Given the description of an element on the screen output the (x, y) to click on. 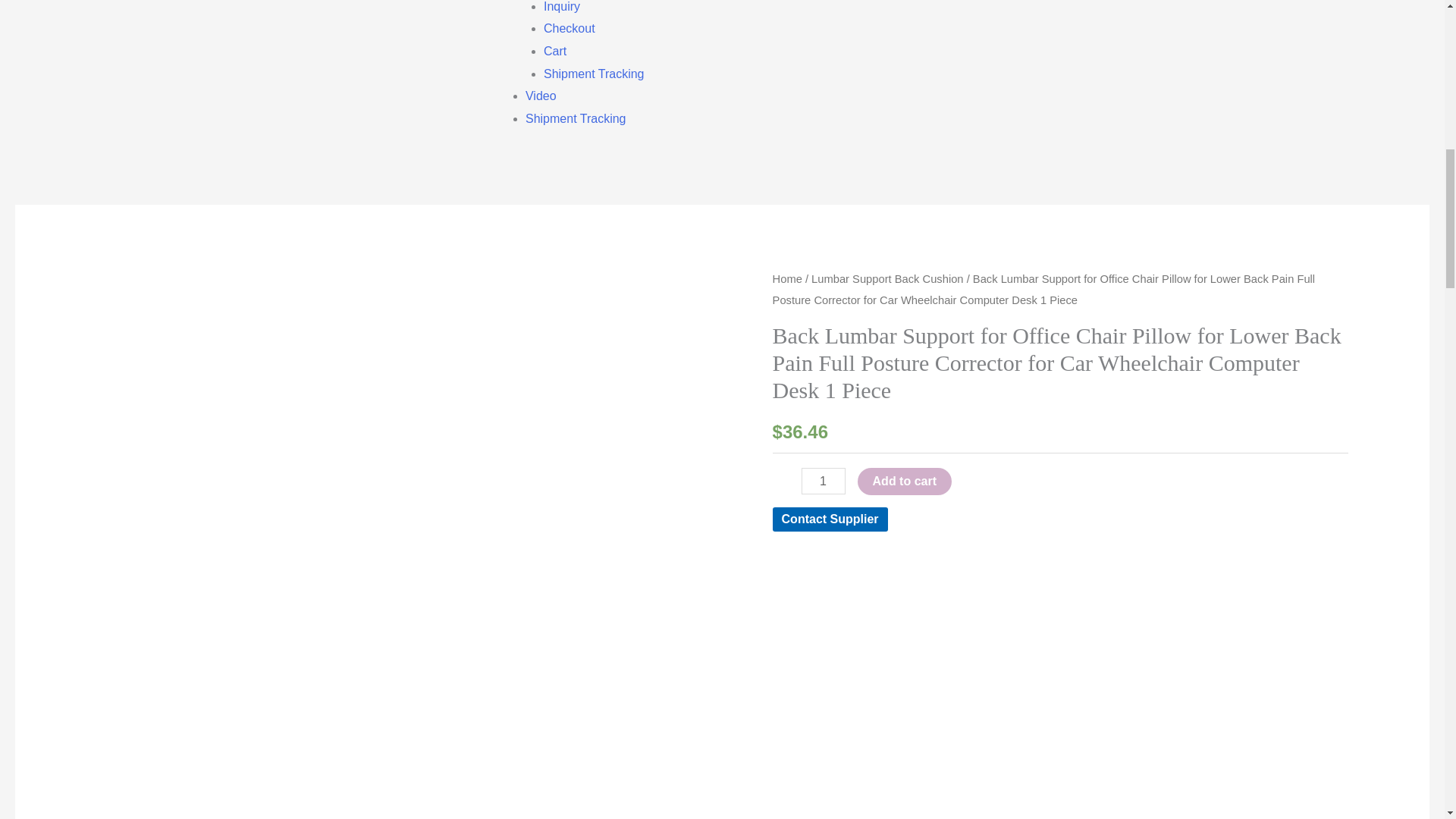
Cart (554, 51)
Inquiry (561, 6)
Shipment Tracking (594, 73)
1 (823, 480)
Checkout (569, 28)
